Given the description of an element on the screen output the (x, y) to click on. 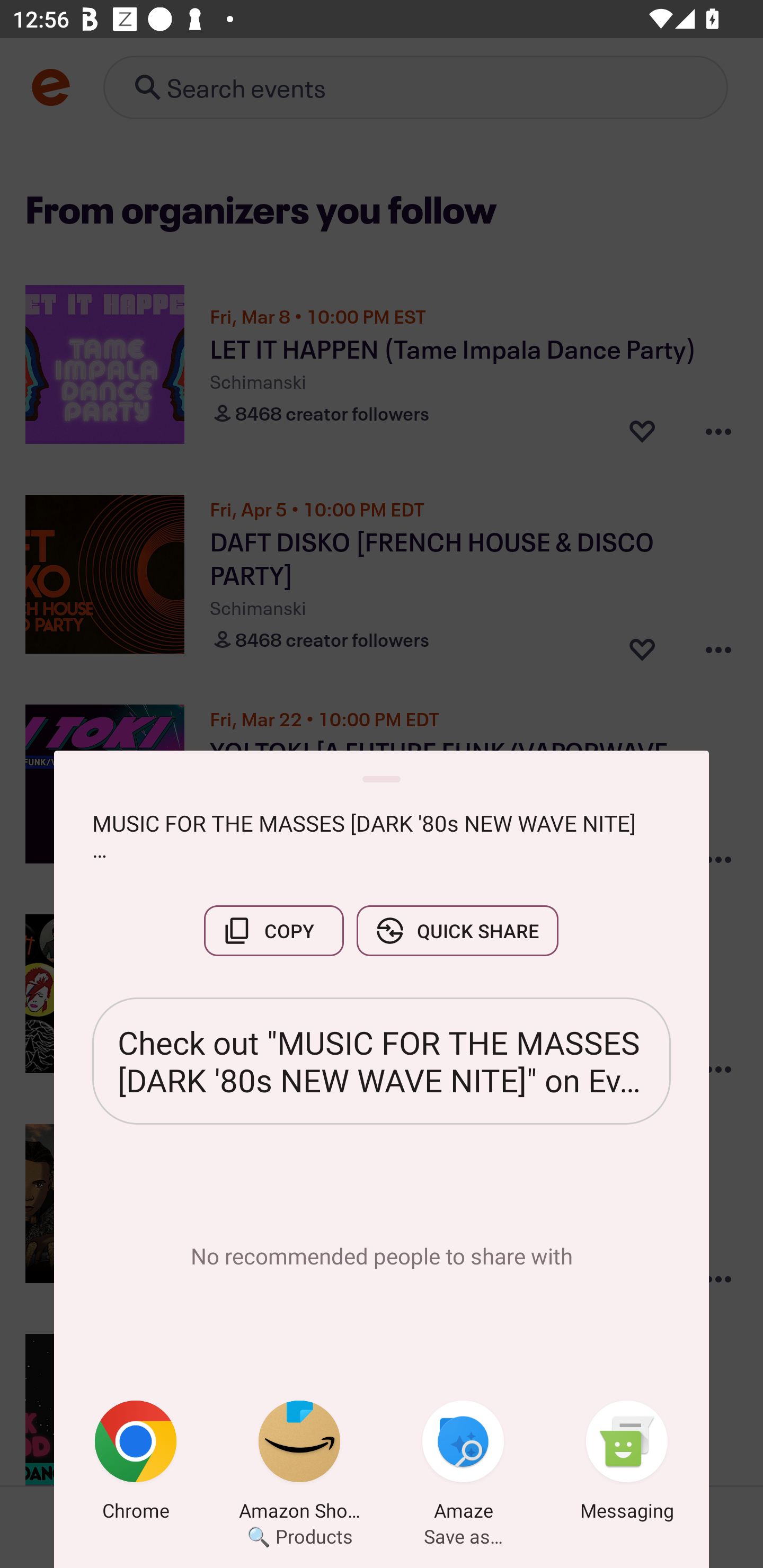
COPY (273, 930)
QUICK SHARE (457, 930)
Chrome (135, 1463)
Amazon Shopping 🔍 Products (299, 1463)
Amaze Save as… (463, 1463)
Messaging (626, 1463)
